Given the description of an element on the screen output the (x, y) to click on. 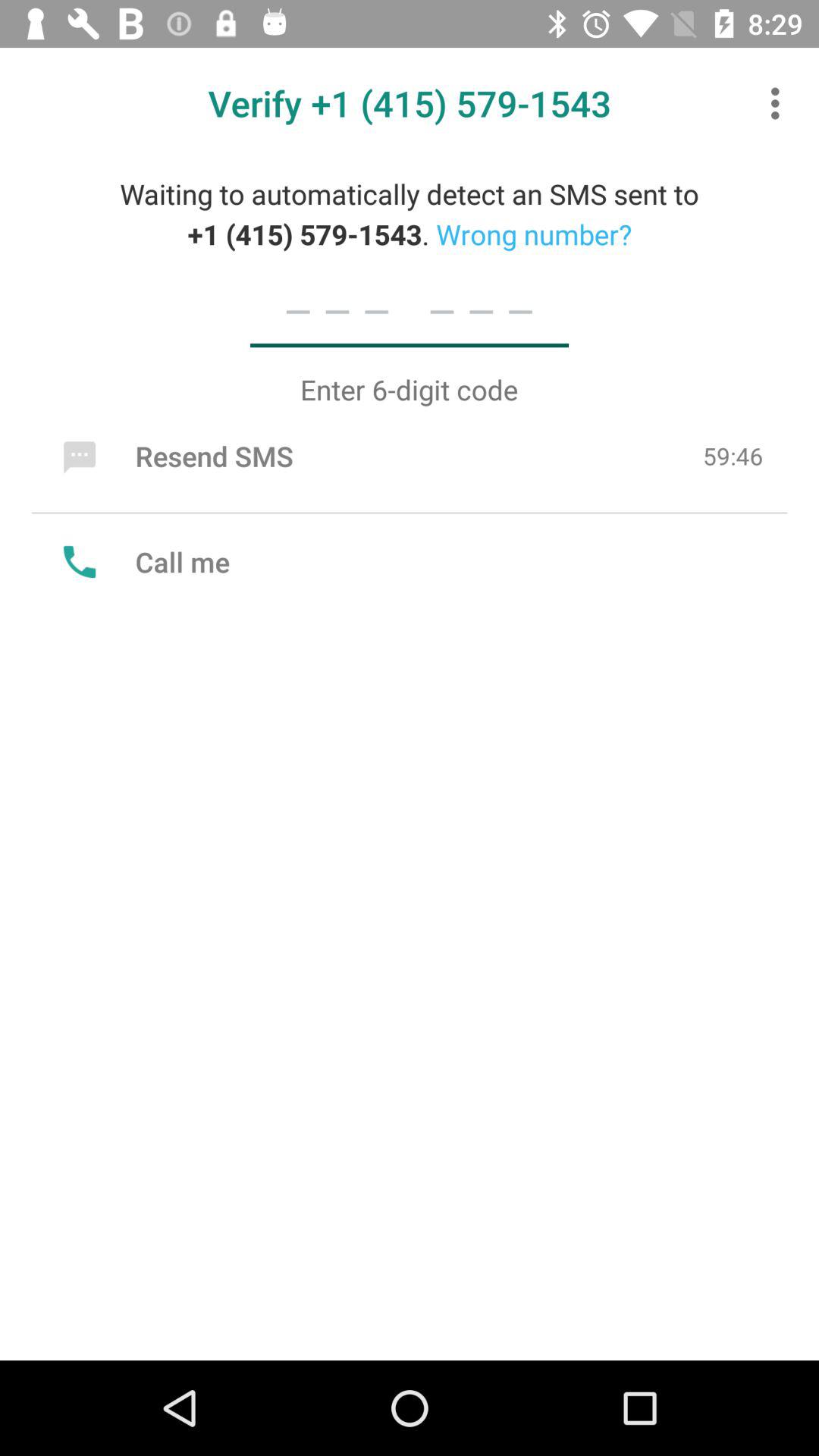
select the resend sms icon (174, 455)
